Given the description of an element on the screen output the (x, y) to click on. 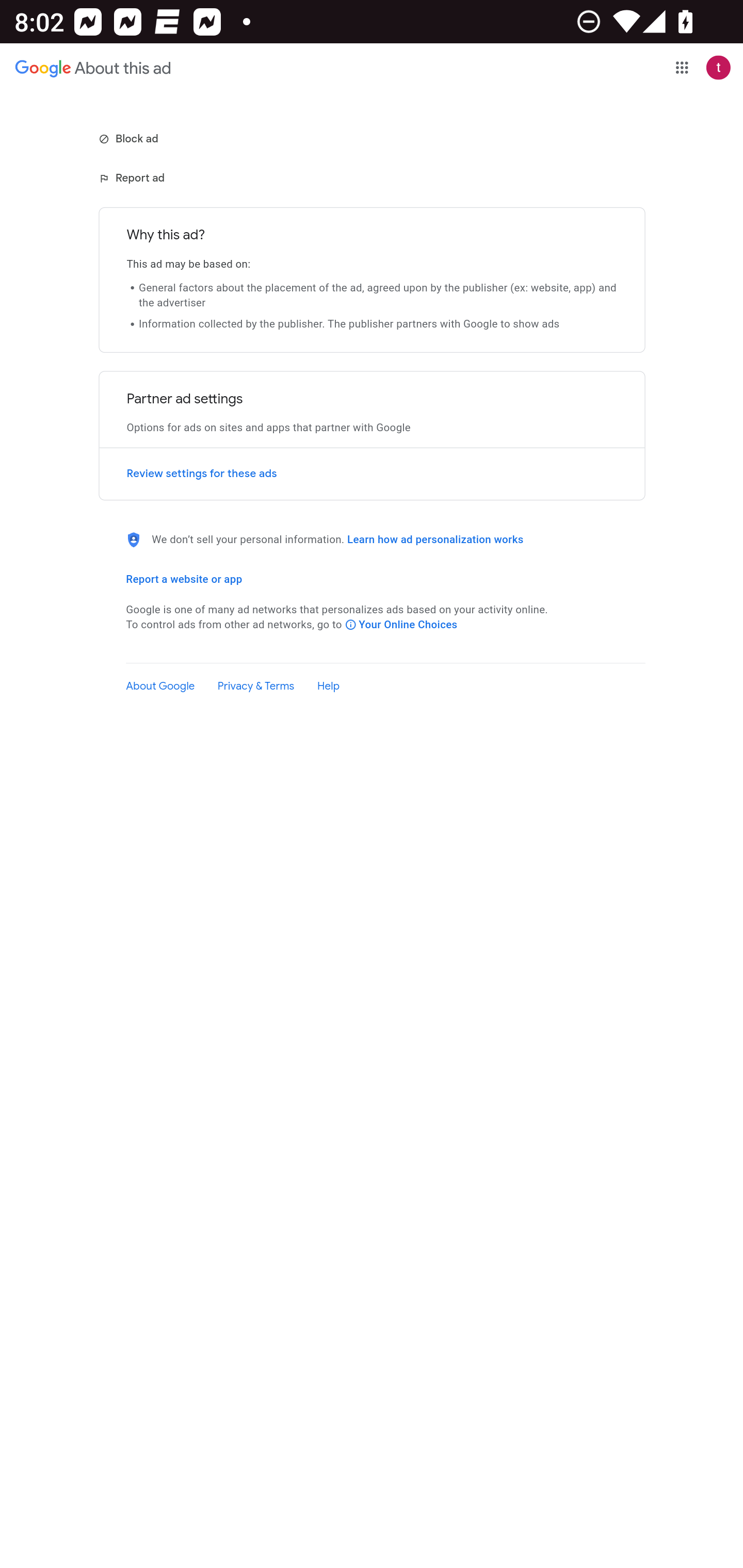
Google apps (681, 67)
Block ad (129, 138)
Report ad (opens in new tab) Report ad (133, 178)
Review settings for these ads (371, 474)
Learn how ad personalization works (434, 539)
Report a website or app (183, 579)
Your Online Choices (400, 624)
About Google (159, 686)
Privacy & Terms (255, 686)
Help (328, 686)
